Given the description of an element on the screen output the (x, y) to click on. 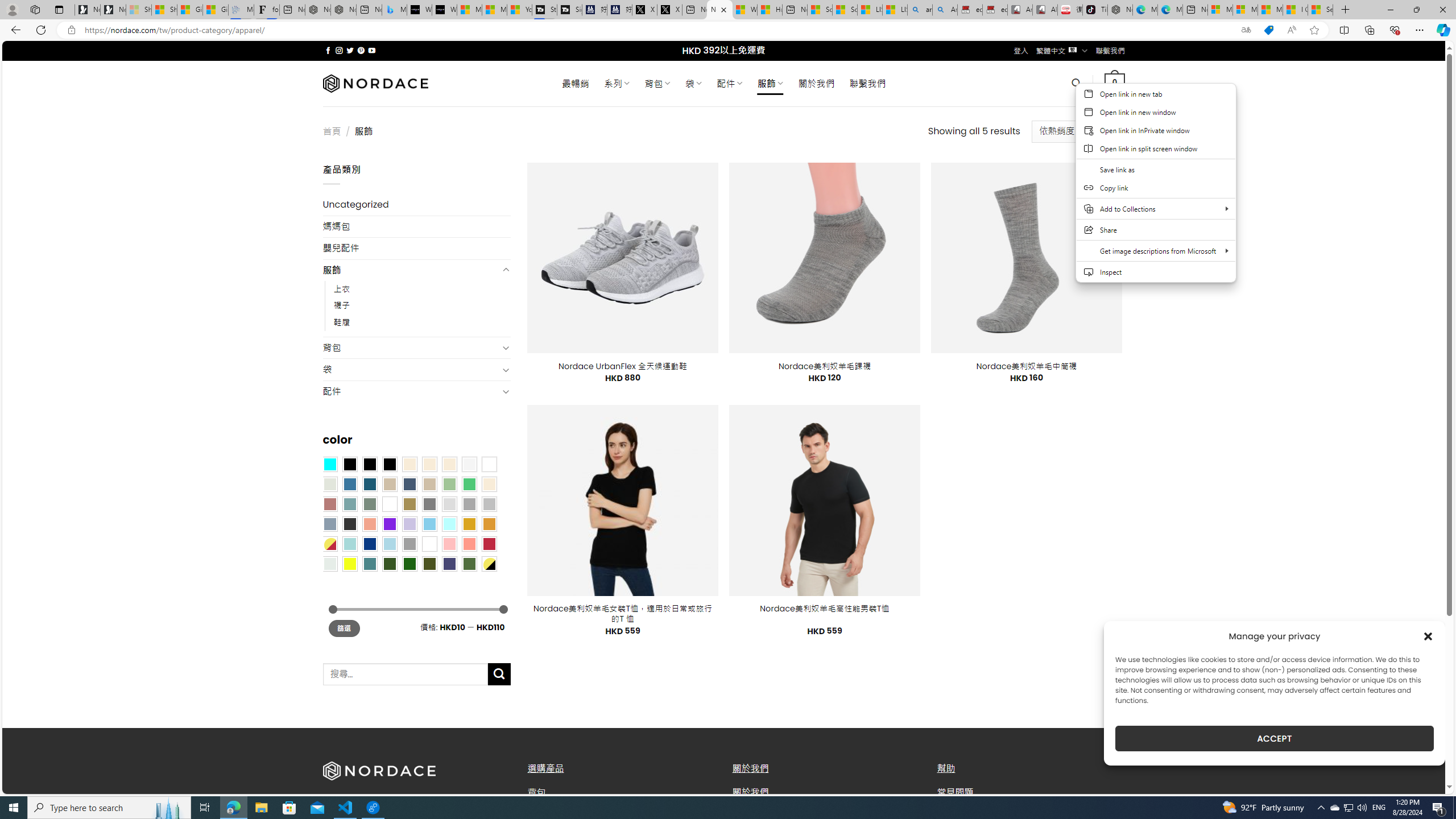
TikTok (1094, 9)
Follow on Facebook (327, 50)
Save link as (1155, 169)
Uncategorized (416, 204)
